Given the description of an element on the screen output the (x, y) to click on. 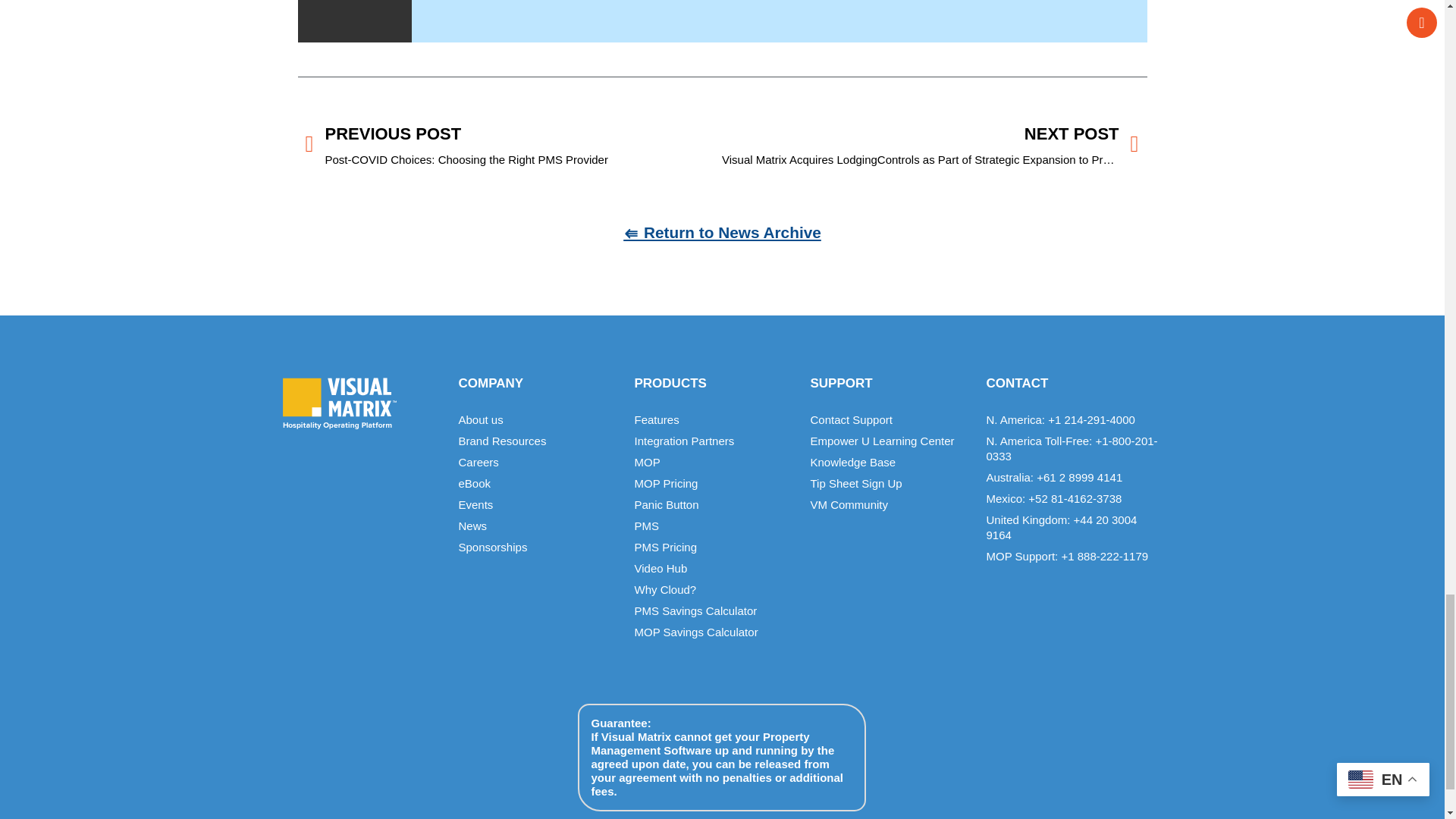
About us (538, 419)
News (538, 525)
MOP (713, 462)
PMS Pricing (713, 547)
eBook (538, 483)
Integration Partners (713, 441)
Features (713, 419)
Video Hub (713, 568)
MOP Pricing (713, 483)
PMS (713, 525)
Panic Button (713, 504)
Sponsorships (538, 547)
vm-logo-tm-rev2 - Visual Matrix (339, 403)
